Given the description of an element on the screen output the (x, y) to click on. 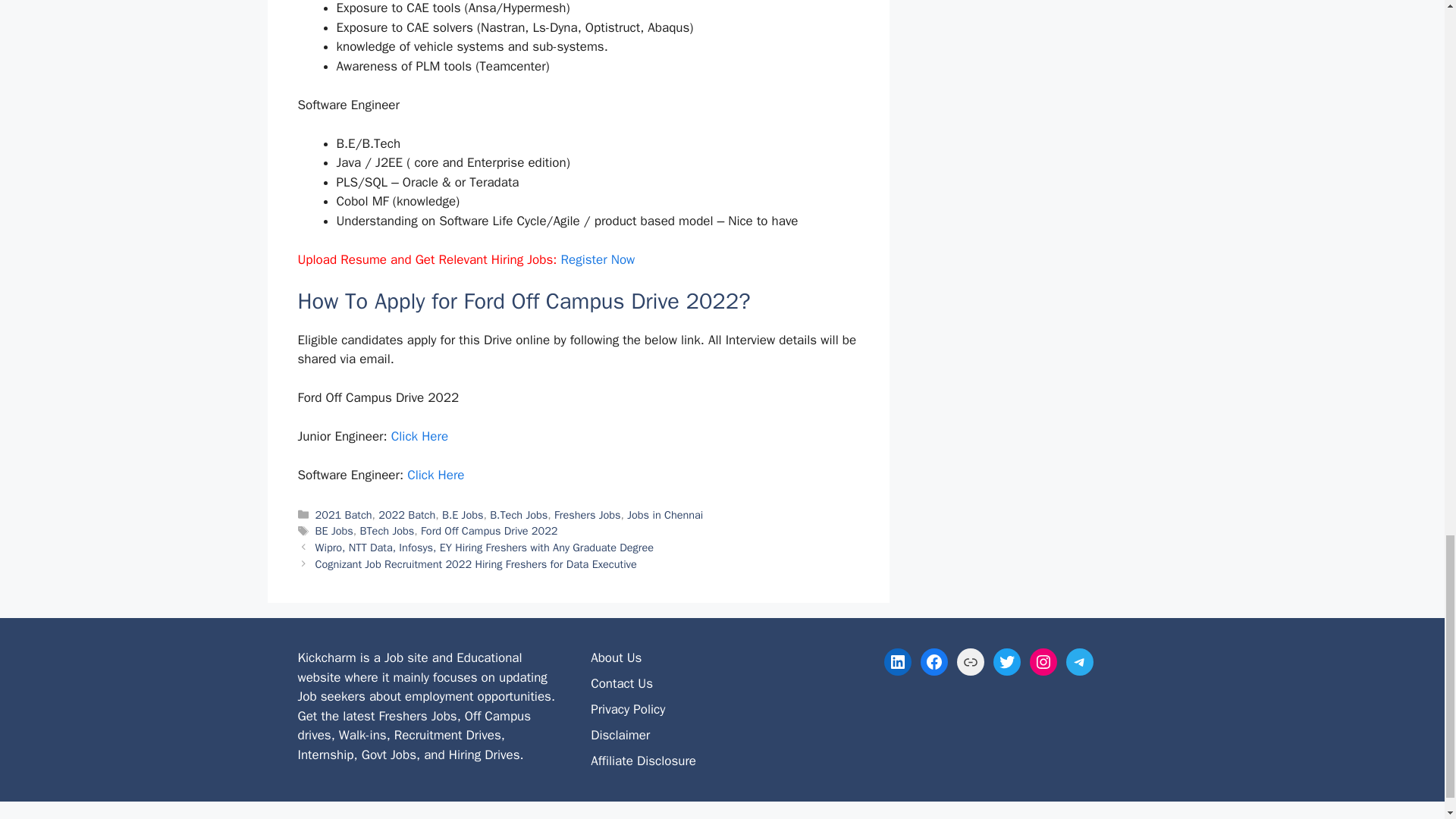
B.E Jobs (462, 514)
Register Now (597, 259)
Click Here (435, 474)
BE Jobs (334, 530)
2021 Batch (343, 514)
2022 Batch (406, 514)
B.Tech Jobs (518, 514)
BTech Jobs (386, 530)
